Given the description of an element on the screen output the (x, y) to click on. 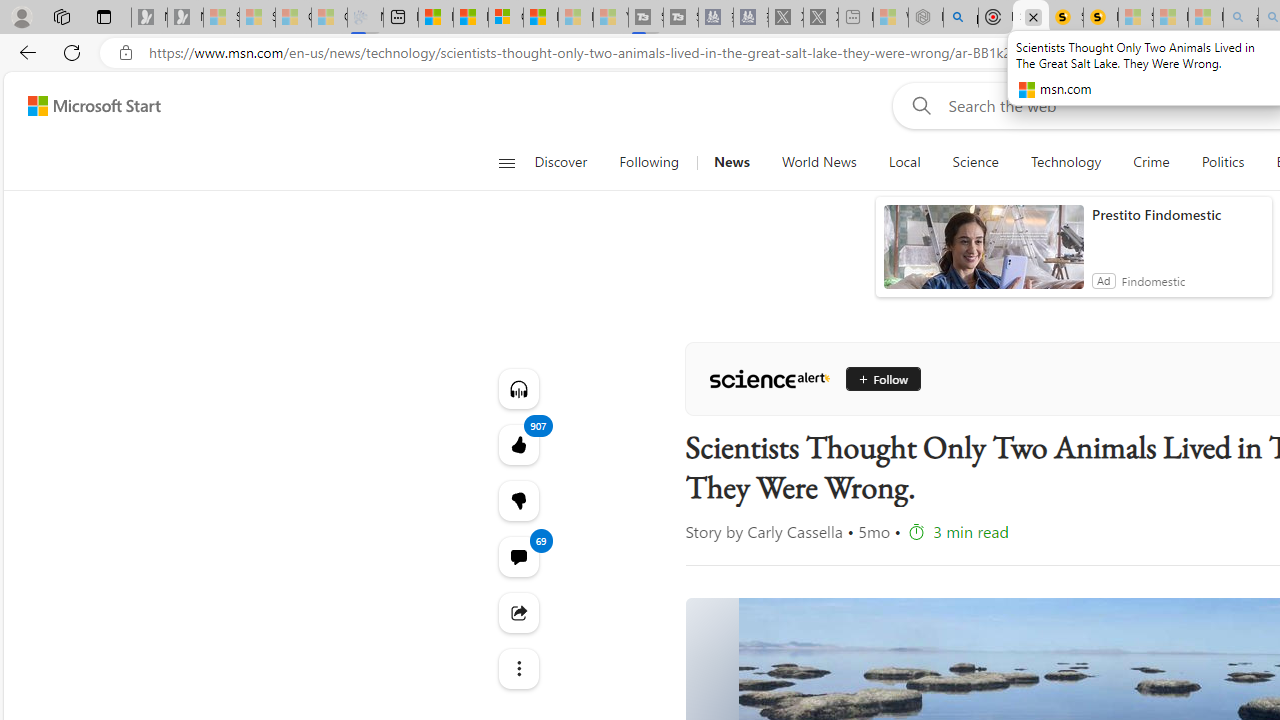
Listen to this article (517, 388)
Technology (1065, 162)
Politics (1222, 162)
Local (903, 162)
Newsletter Sign Up - Sleeping (185, 17)
New tab - Sleeping (855, 17)
World News (818, 162)
Dislike (517, 500)
Science (975, 162)
World News (818, 162)
Politics (1222, 162)
View comments 69 Comment (517, 556)
